Given the description of an element on the screen output the (x, y) to click on. 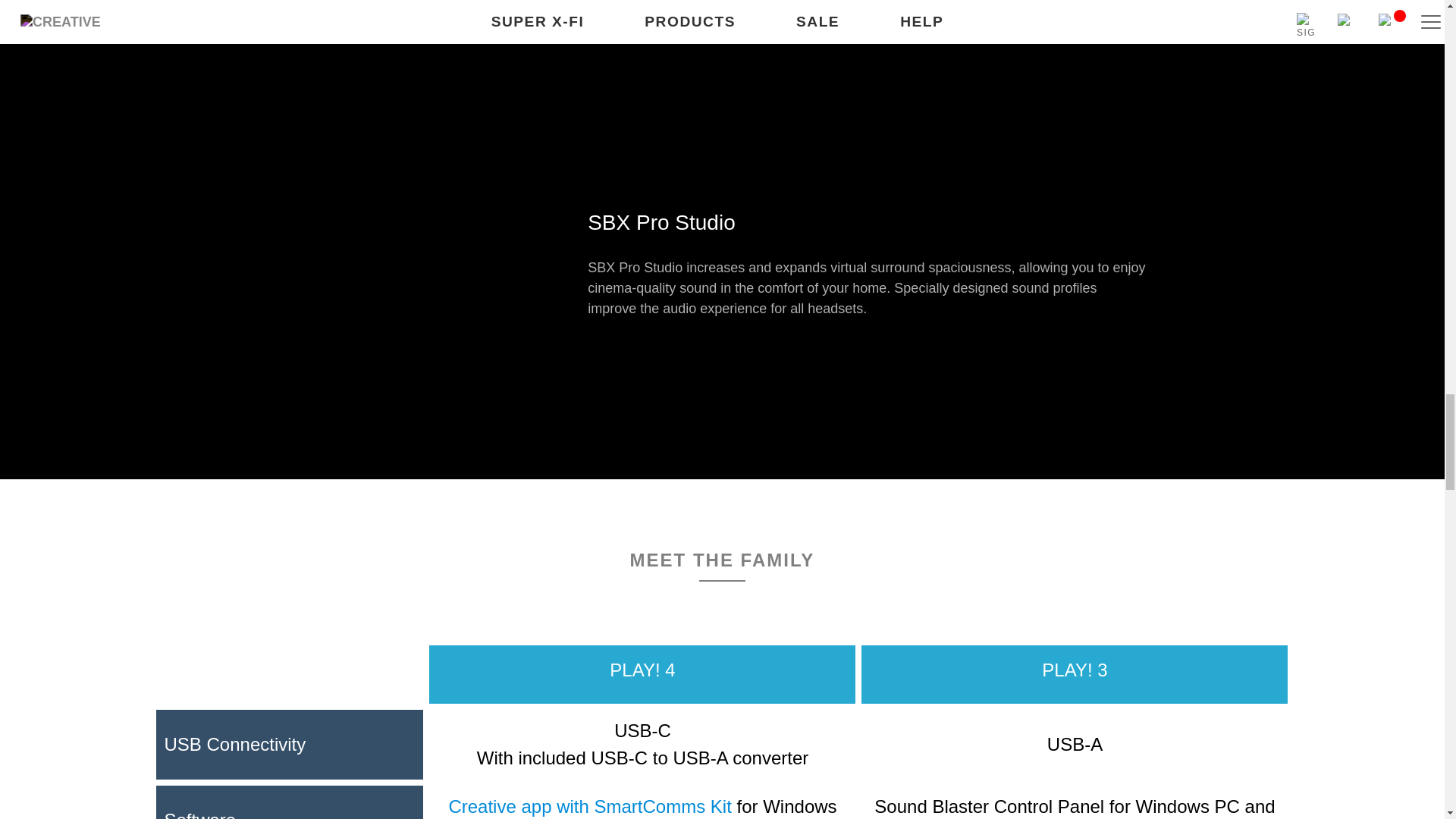
Creative app with SmartComms Kit (589, 806)
